Given the description of an element on the screen output the (x, y) to click on. 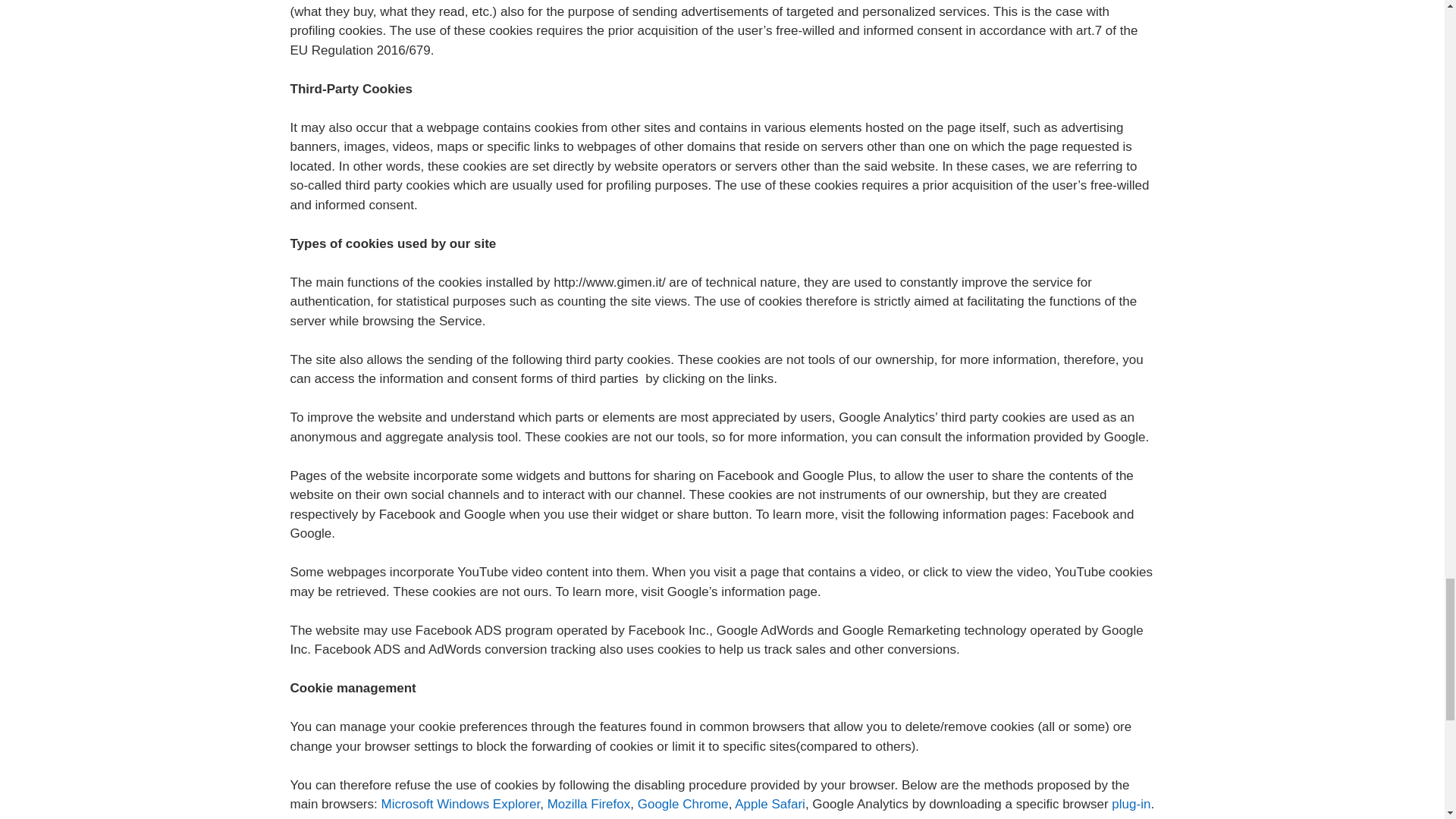
Google Chrome (683, 803)
Microsoft Windows Explorer (460, 803)
Apple Safari (770, 803)
plug-in (1131, 803)
Mozilla Firefox (588, 803)
